Given the description of an element on the screen output the (x, y) to click on. 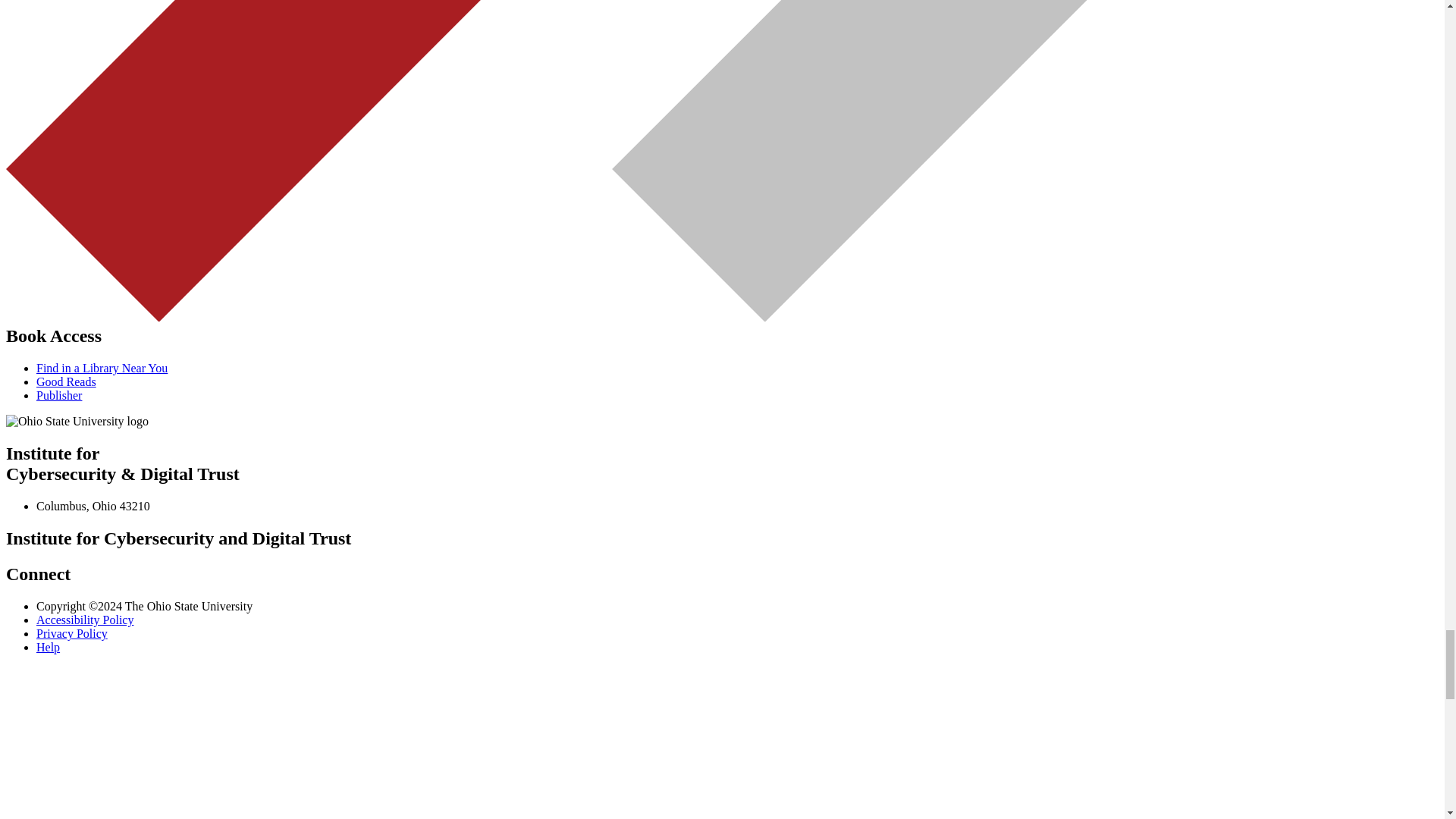
Accessibility Policy (84, 619)
Good Reads (66, 381)
Publisher (58, 395)
Privacy Policy (71, 633)
Help (47, 646)
Find in a Library Near You (101, 367)
